Given the description of an element on the screen output the (x, y) to click on. 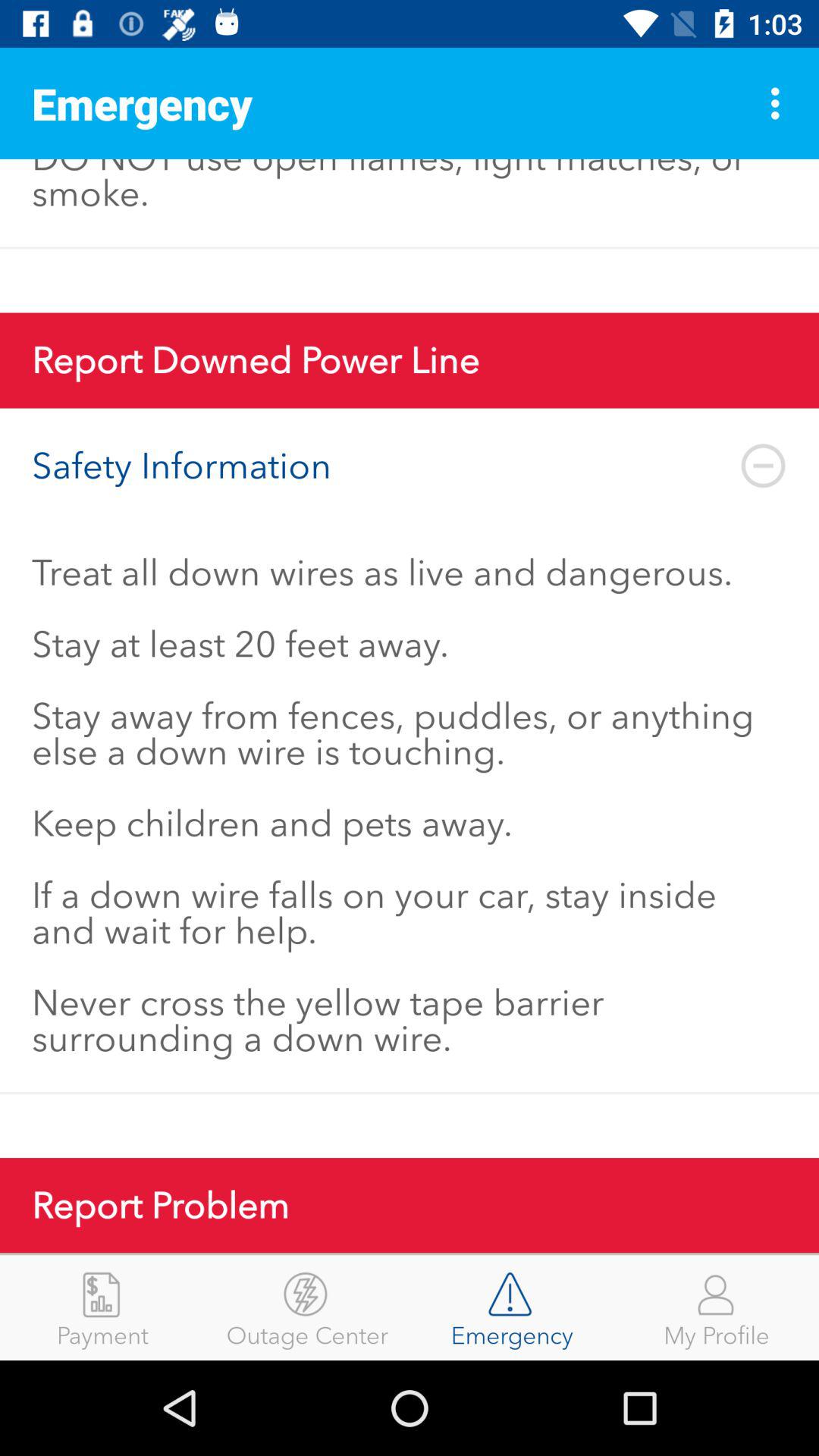
select payment (102, 1307)
